Given the description of an element on the screen output the (x, y) to click on. 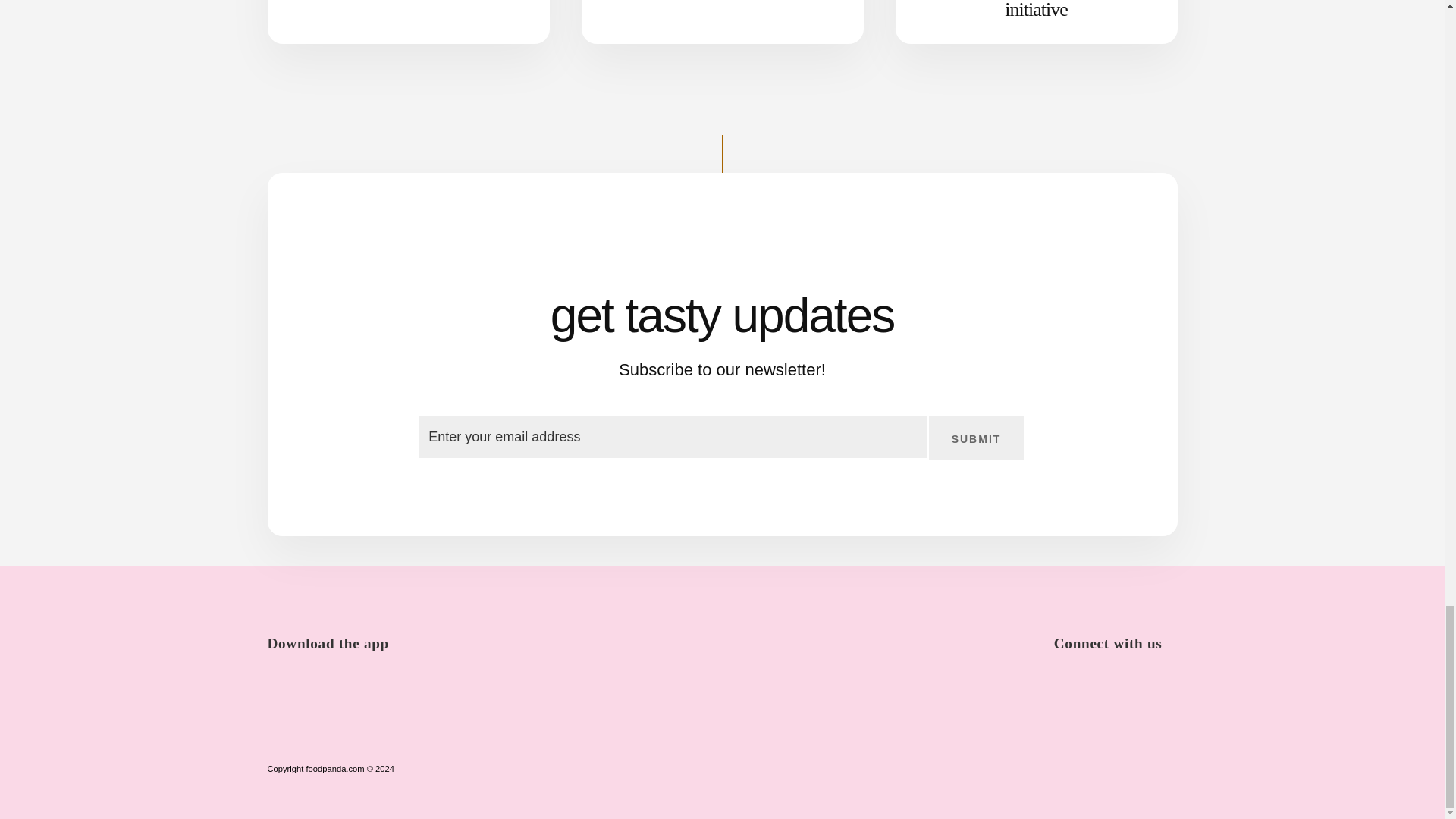
SUBMIT (976, 438)
Connect with us (1115, 630)
Download the app (334, 630)
